Given the description of an element on the screen output the (x, y) to click on. 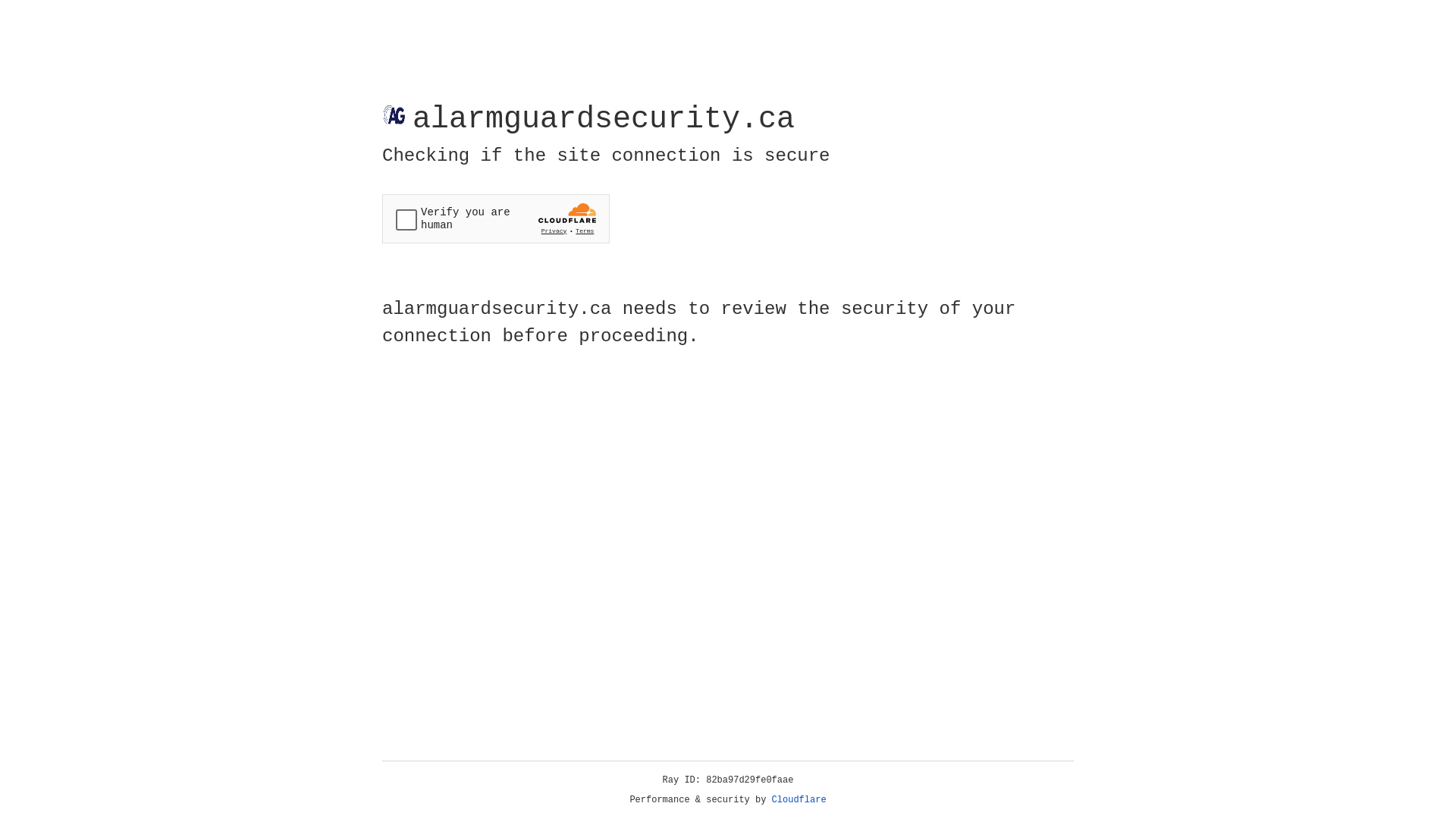
Widget containing a Cloudflare security challenge Element type: hover (495, 218)
Cloudflare Element type: text (798, 799)
